Given the description of an element on the screen output the (x, y) to click on. 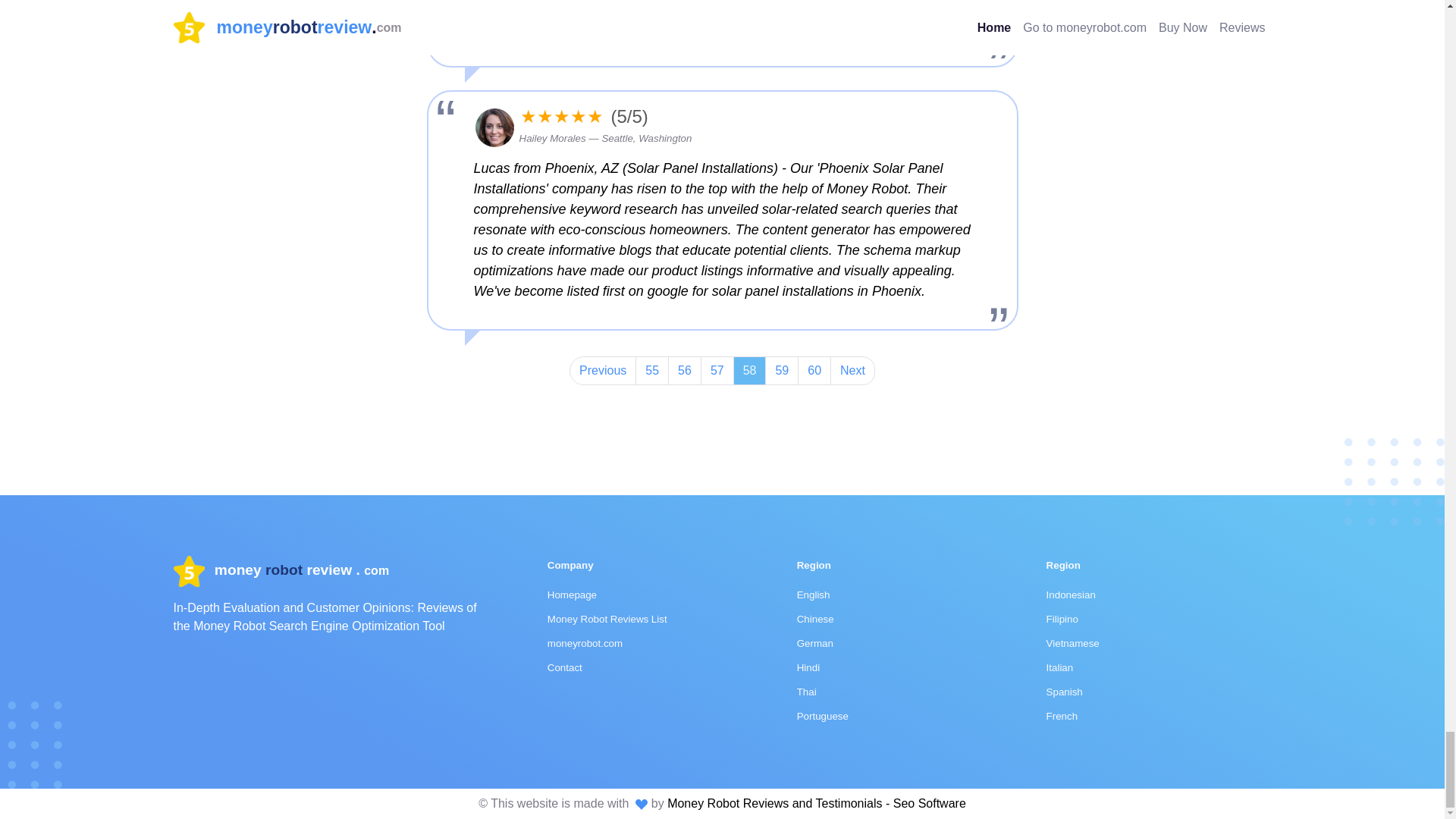
Contact (564, 667)
55 (651, 370)
60 (814, 370)
Next (852, 370)
Hindi (807, 667)
Filipino (1062, 618)
English (812, 594)
money robot review . com (280, 570)
Previous (602, 370)
57 (716, 370)
Thai (806, 691)
moneyrobot.com (585, 643)
Portuguese (822, 715)
56 (684, 370)
Italian (1060, 667)
